Given the description of an element on the screen output the (x, y) to click on. 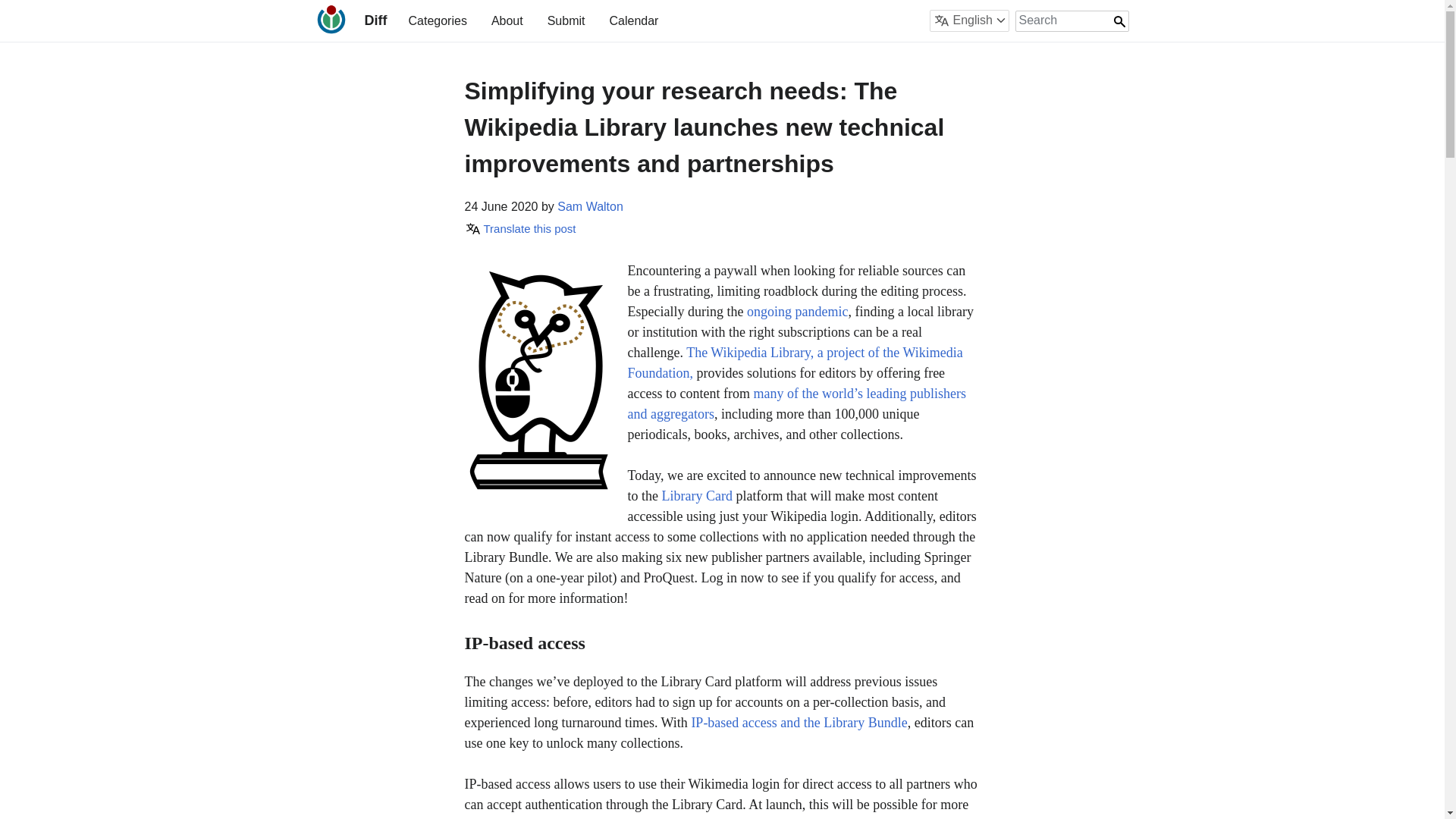
Posts by Sam Walton (590, 205)
About (506, 20)
main-navigation (532, 20)
Categories (436, 20)
ongoing pandemic (796, 311)
Sam Walton (590, 205)
IP-based access and the Library Bundle (798, 722)
Calendar (632, 20)
Submit (566, 20)
